Given the description of an element on the screen output the (x, y) to click on. 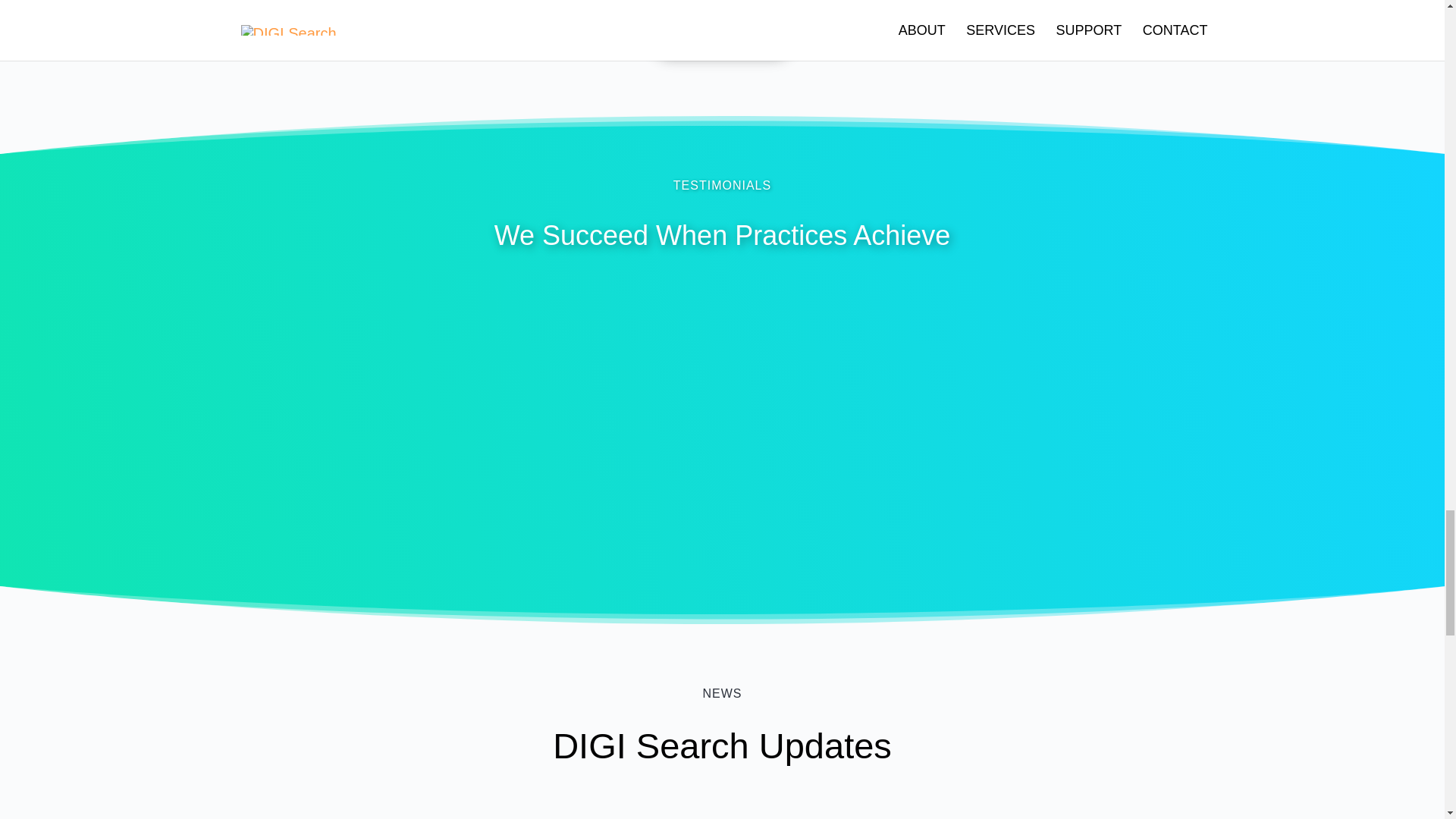
LEARN MORE (721, 33)
